Given the description of an element on the screen output the (x, y) to click on. 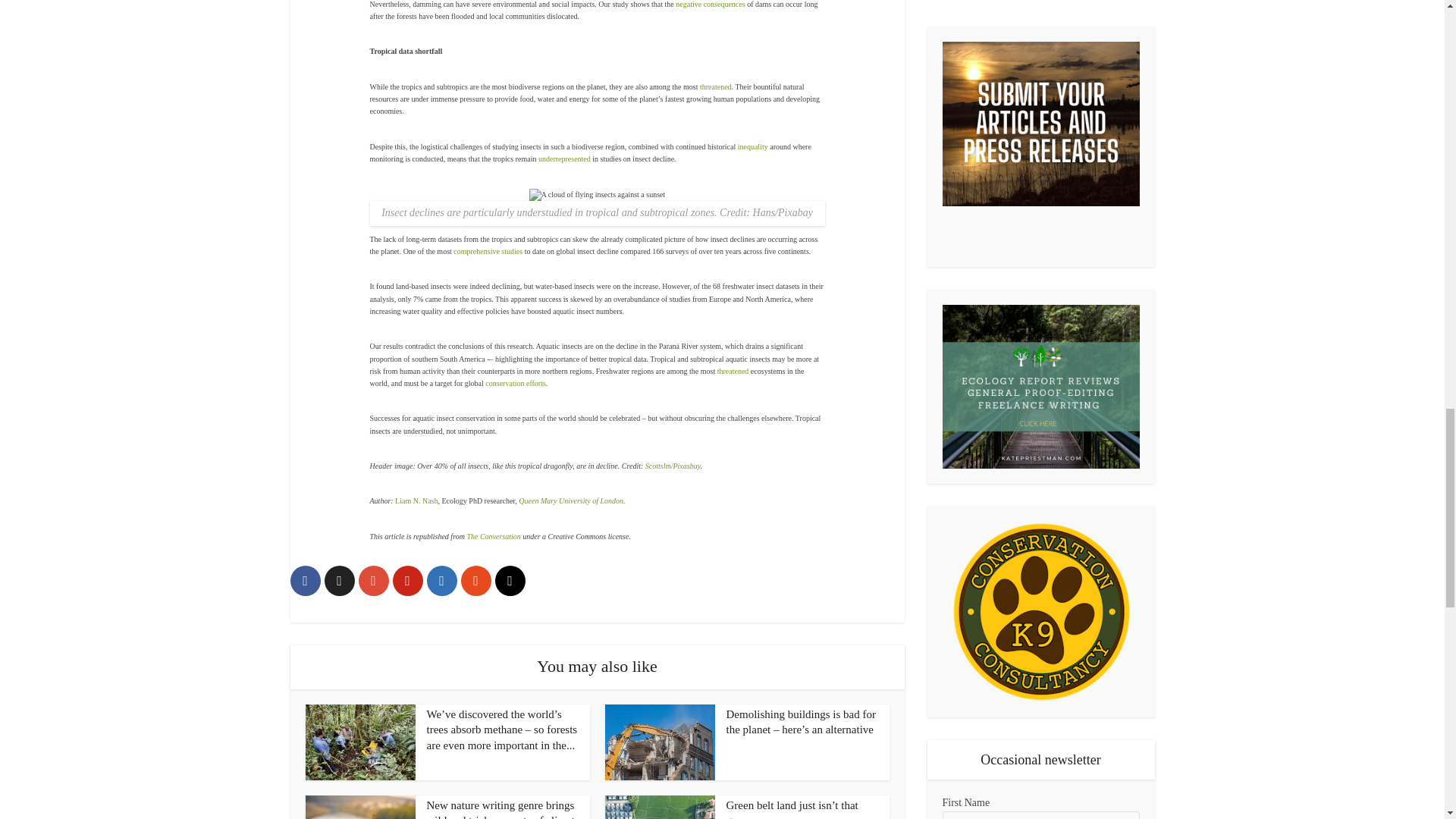
The Conversation (492, 536)
comprehensive studies (487, 251)
Queen Mary University of London (570, 500)
inequality (753, 146)
conservation efforts (515, 383)
underrepresented (564, 158)
threatened (733, 370)
Liam N. Nash (416, 500)
threatened (716, 86)
negative consequences (709, 4)
